Given the description of an element on the screen output the (x, y) to click on. 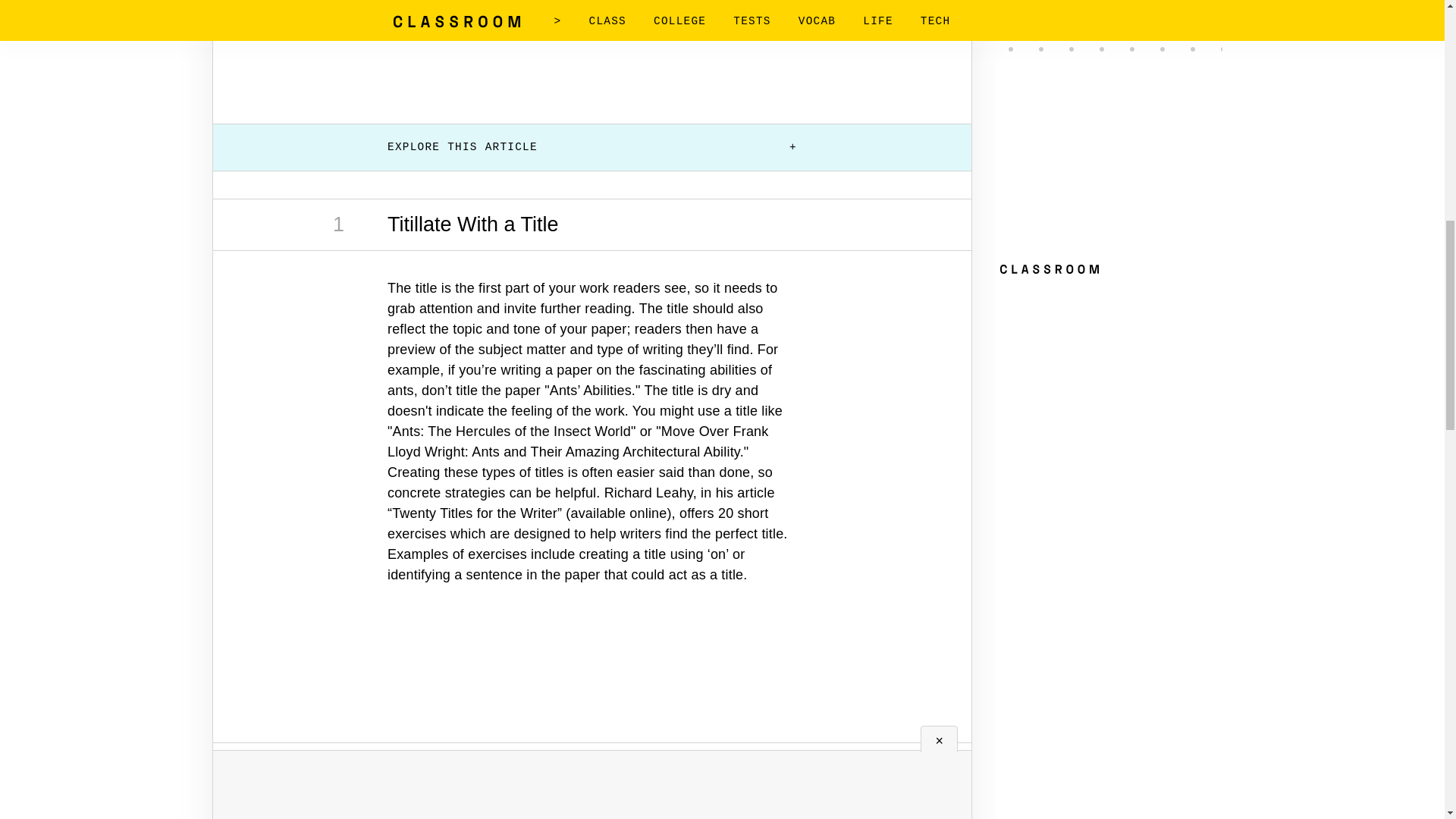
3rd party ad content (591, 680)
3rd party ad content (592, 48)
